Given the description of an element on the screen output the (x, y) to click on. 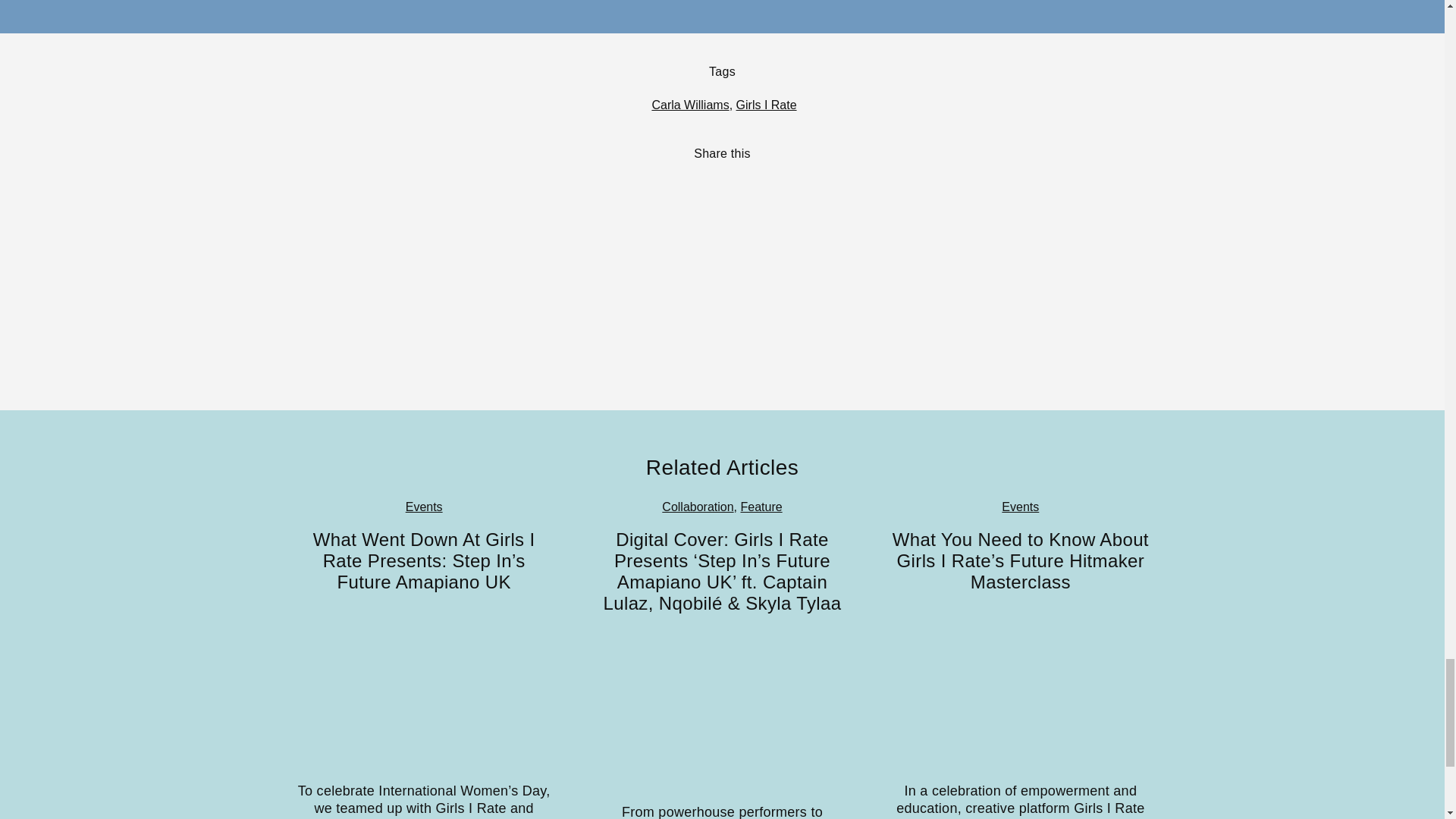
Share on Twitter (707, 185)
Share on Facebook (729, 185)
